Given the description of an element on the screen output the (x, y) to click on. 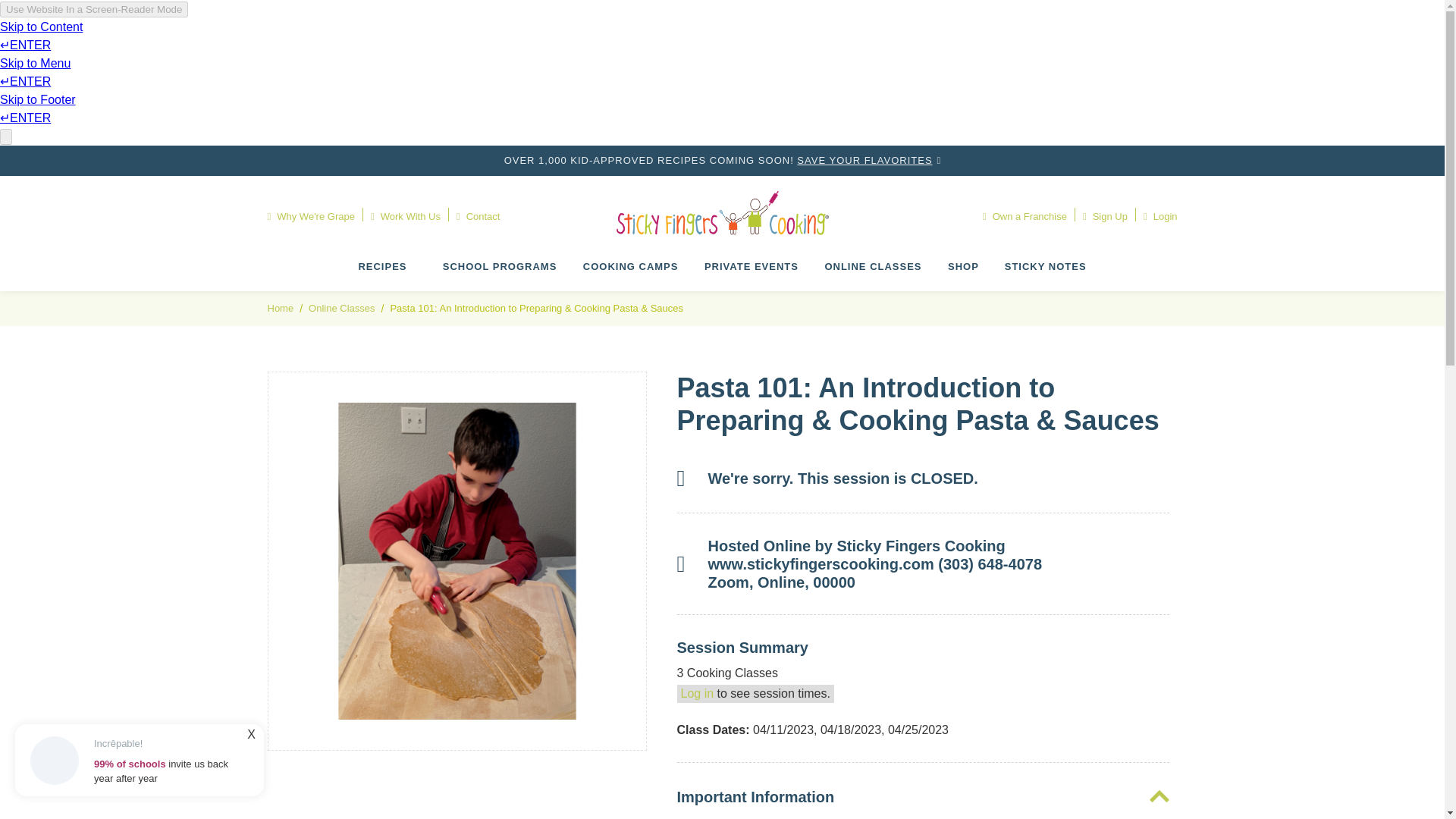
RECIPES (381, 266)
Sign Up (1104, 217)
SAVE YOUR FLAVORITES (863, 160)
Own a Franchise (1032, 217)
Work With Us (406, 217)
Login (1159, 217)
Why We're Grape (317, 217)
Contact (478, 217)
